Given the description of an element on the screen output the (x, y) to click on. 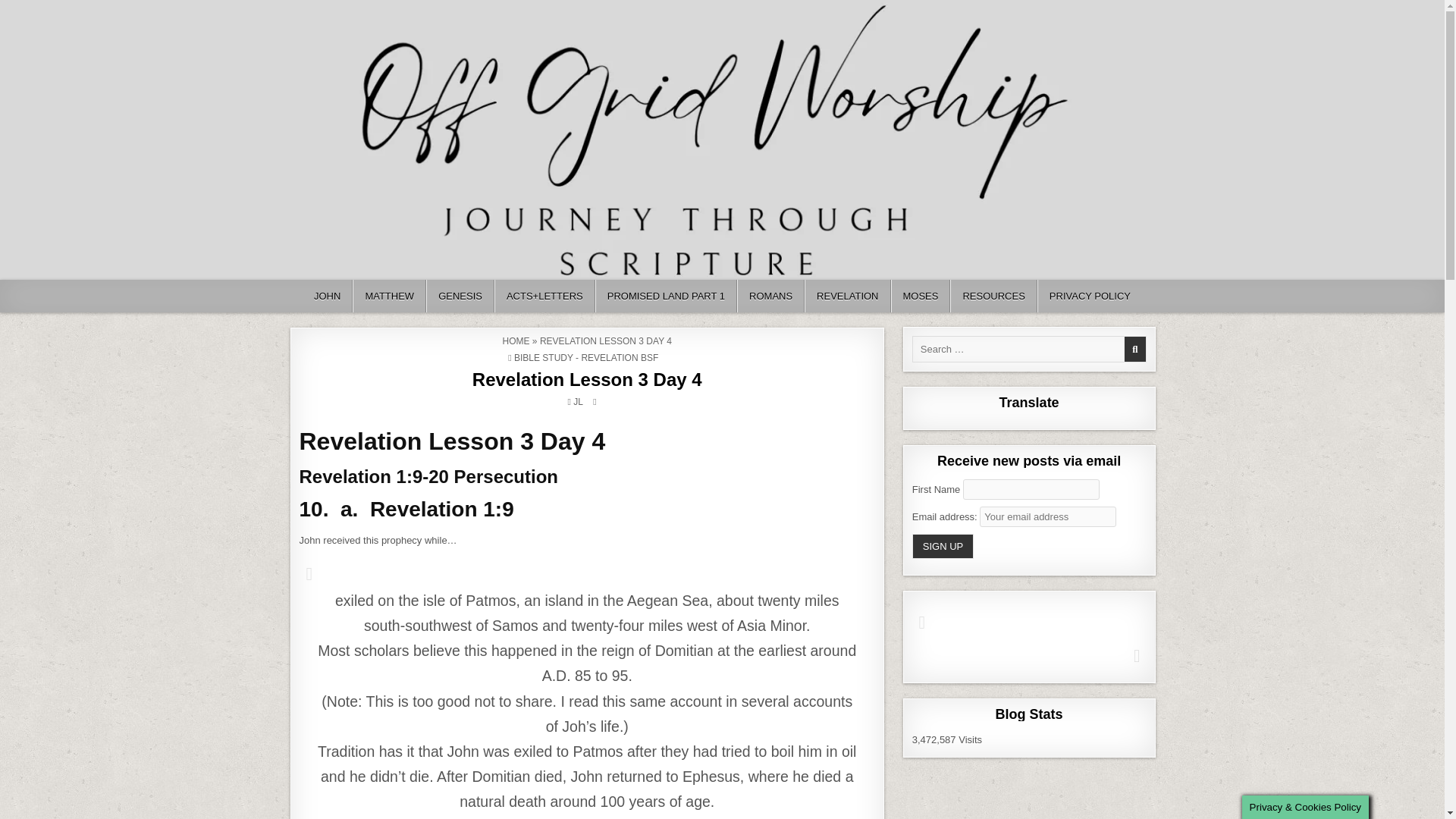
Sign up (943, 545)
MATTHEW (389, 296)
HOME (515, 340)
REVELATION (847, 296)
PRIVACY POLICY (1088, 296)
GENESIS (460, 296)
Revelation Lesson 3 Day 4 (586, 379)
BIBLE STUDY - REVELATION BSF (585, 357)
RESOURCES (993, 296)
MOSES (919, 296)
JL (578, 401)
ROMANS (770, 296)
PROMISED LAND PART 1 (665, 296)
JOHN (327, 296)
